Given the description of an element on the screen output the (x, y) to click on. 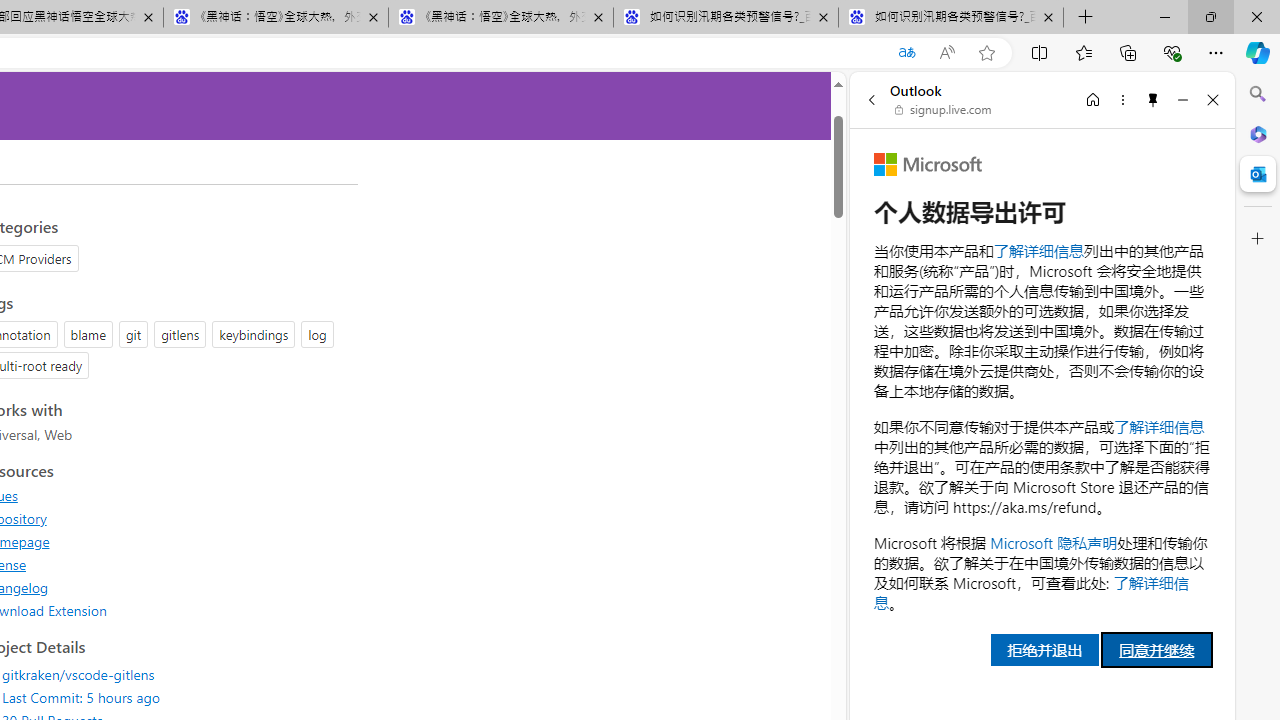
Unpin side pane (1153, 99)
signup.live.com (943, 110)
Microsoft (927, 164)
